Given the description of an element on the screen output the (x, y) to click on. 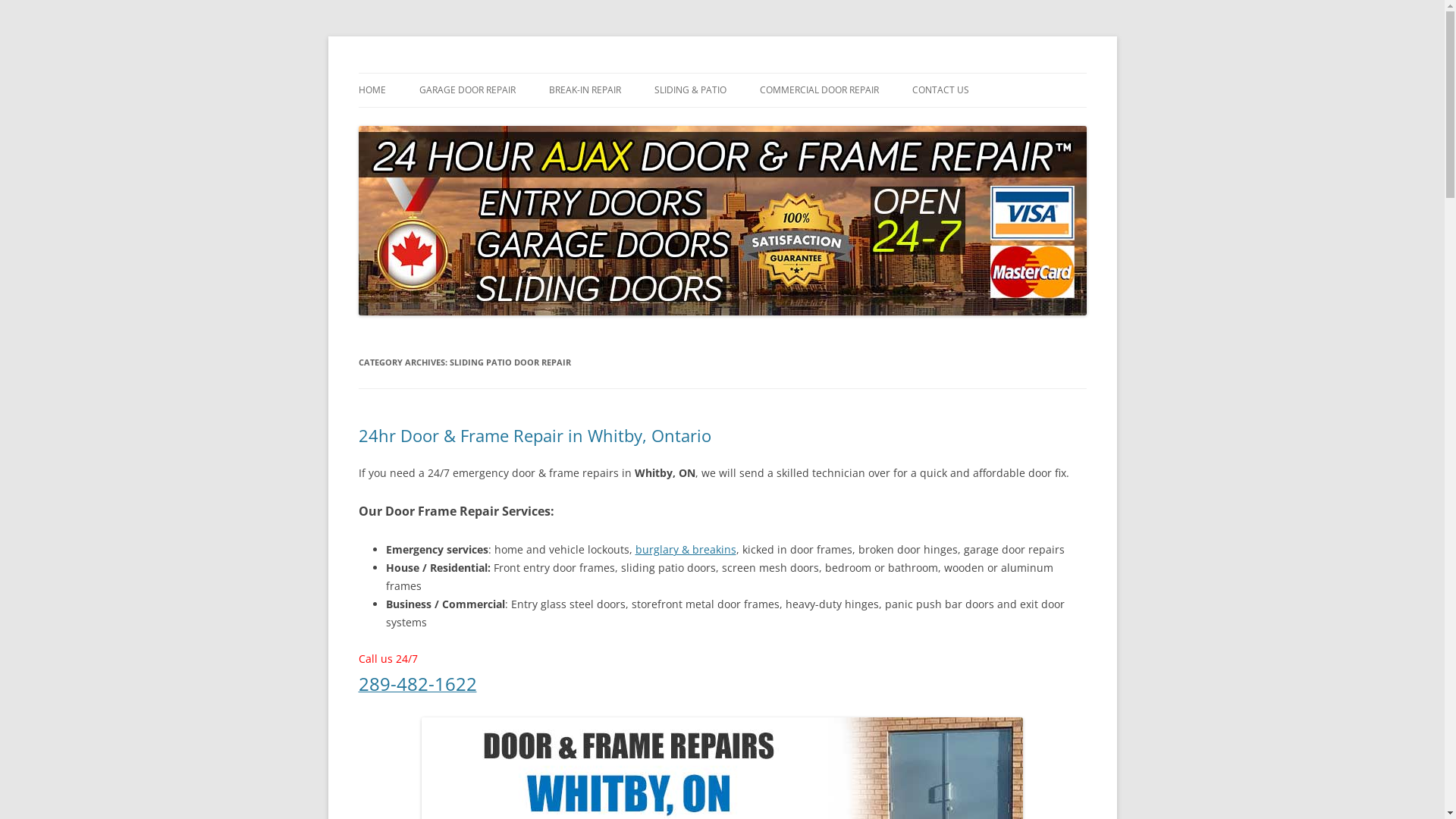
STEEL DOOR REPAIR Element type: text (835, 122)
CONTACT US Element type: text (939, 89)
HOME Element type: text (371, 89)
GARAGE DOOR REPAIR Element type: text (466, 89)
24hr Door & Frame Repair in Whitby, Ontario Element type: text (533, 434)
24HR DOOR REPAIR OSHAWA Element type: text (987, 122)
BREAK-IN REPAIR Element type: text (585, 89)
COMMERCIAL DOOR REPAIR Element type: text (818, 89)
SLIDING & PATIO Element type: text (689, 89)
SCREEN DOOR REPAIR Element type: text (729, 122)
289-482-1622 Element type: text (416, 686)
Skip to content Element type: text (721, 72)
burglary & breakins Element type: text (685, 549)
